Given the description of an element on the screen output the (x, y) to click on. 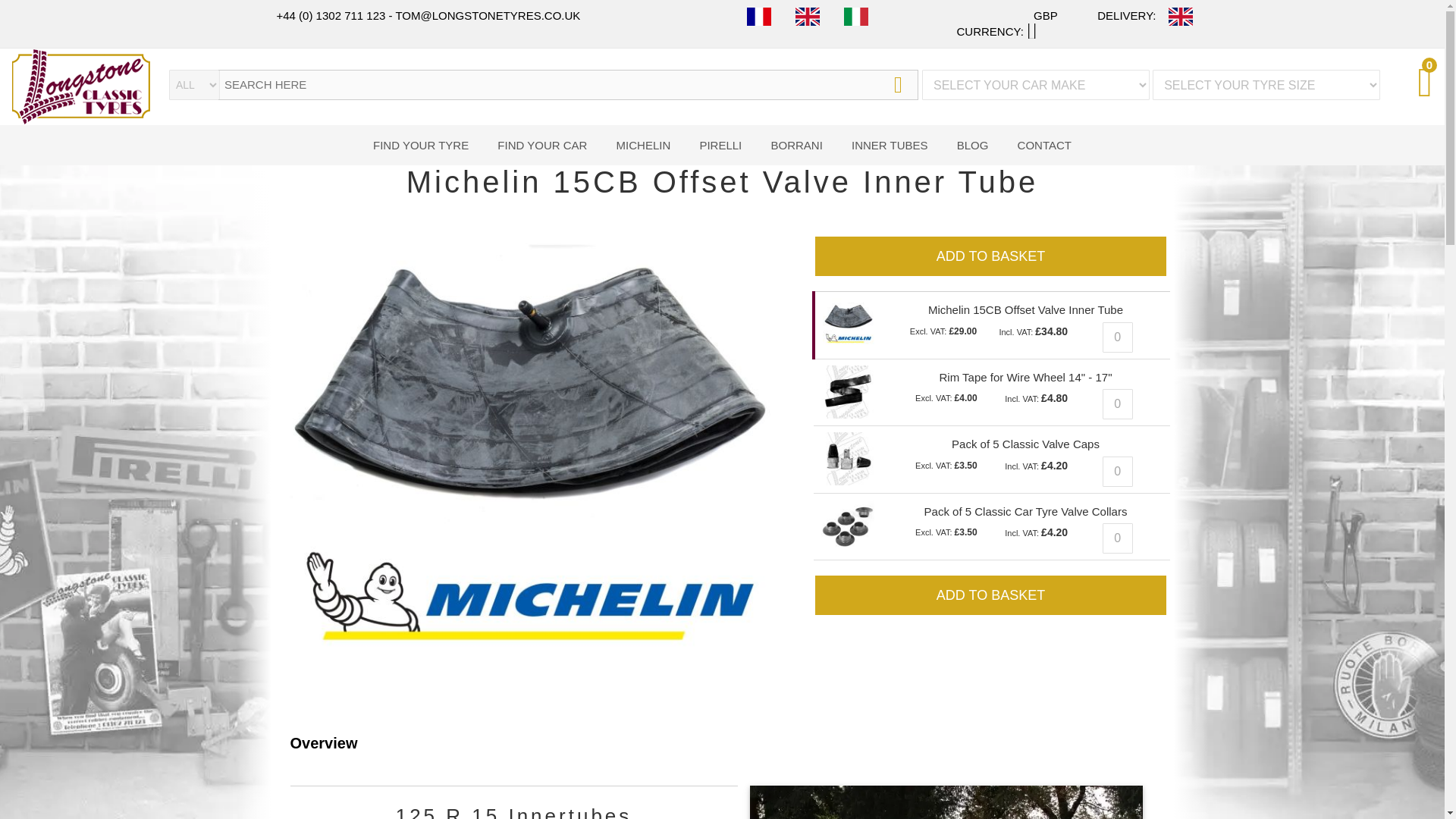
ADD TO BASKET (990, 595)
BORRANI (796, 145)
Add to Basket (990, 256)
0 (1117, 337)
BLOG (972, 145)
MICHELIN (643, 145)
English (806, 16)
0 (1117, 538)
Francais (758, 16)
Qty (1117, 337)
